Given the description of an element on the screen output the (x, y) to click on. 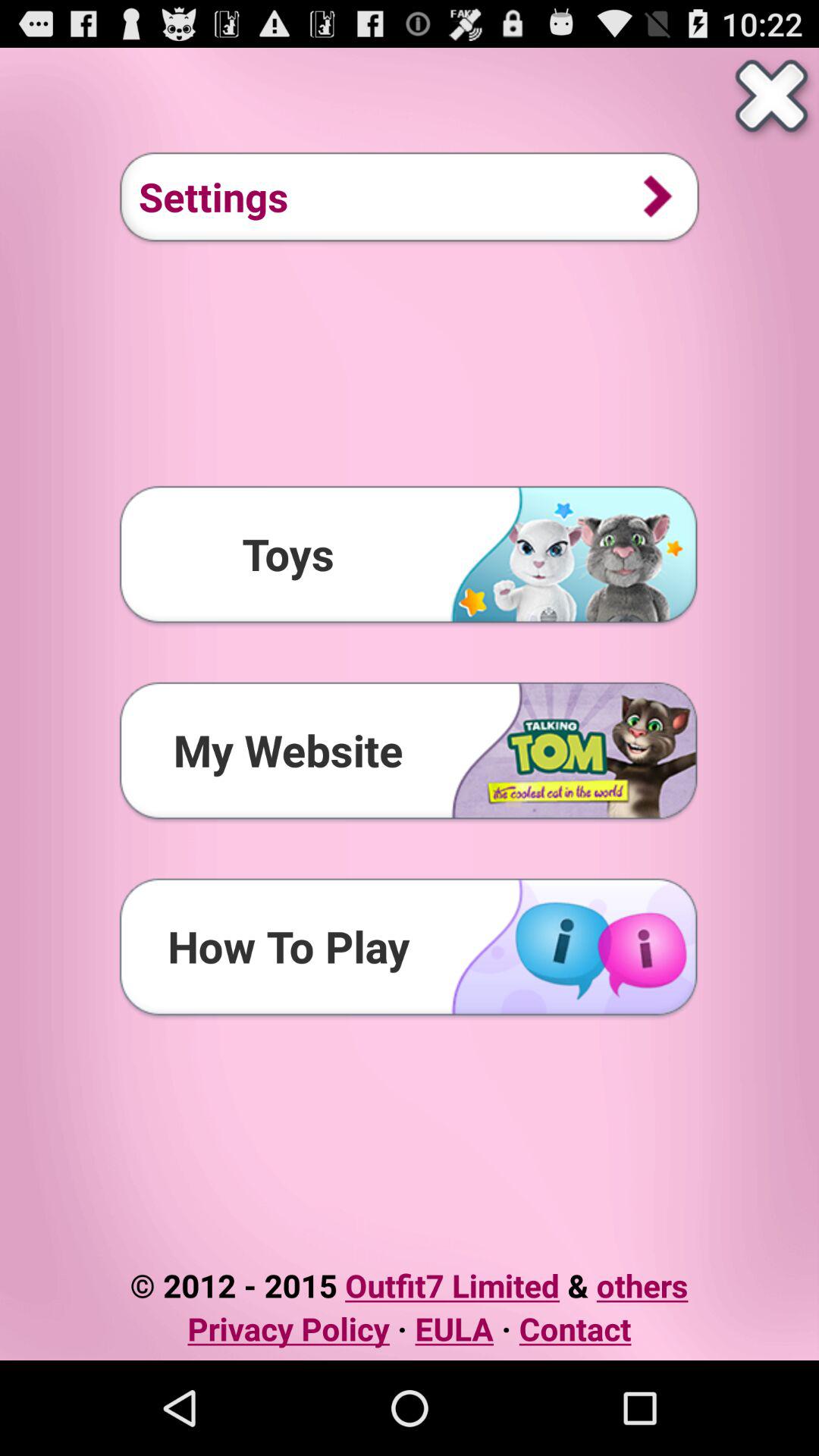
turn off 2012 2015 outfit7 item (409, 1284)
